Given the description of an element on the screen output the (x, y) to click on. 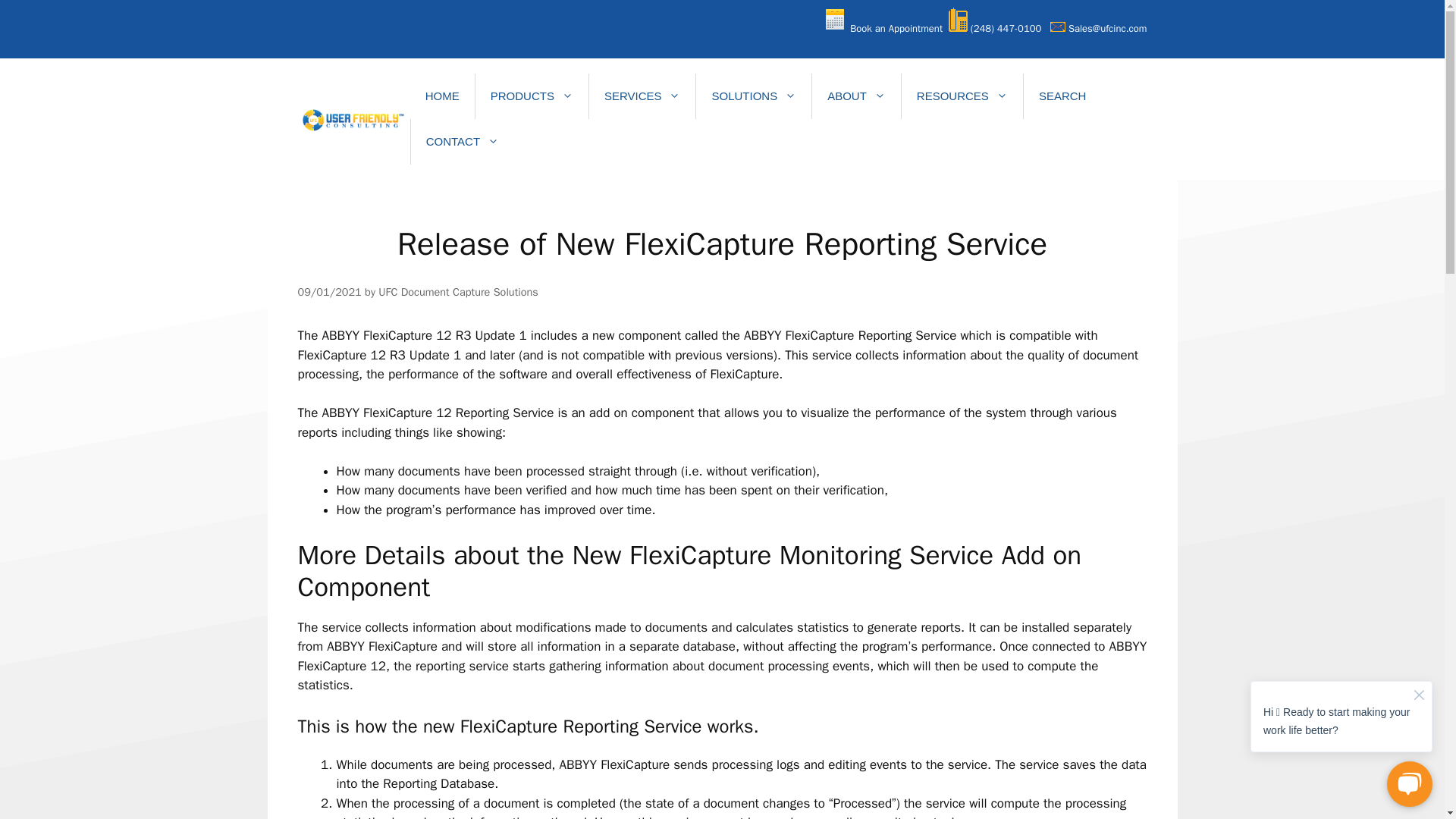
PRODUCTS (532, 95)
SOLUTIONS (752, 95)
Book an Appointment (896, 28)
SERVICES (642, 95)
View all posts by UFC Document Capture Solutions (457, 291)
HOME (442, 95)
